Given the description of an element on the screen output the (x, y) to click on. 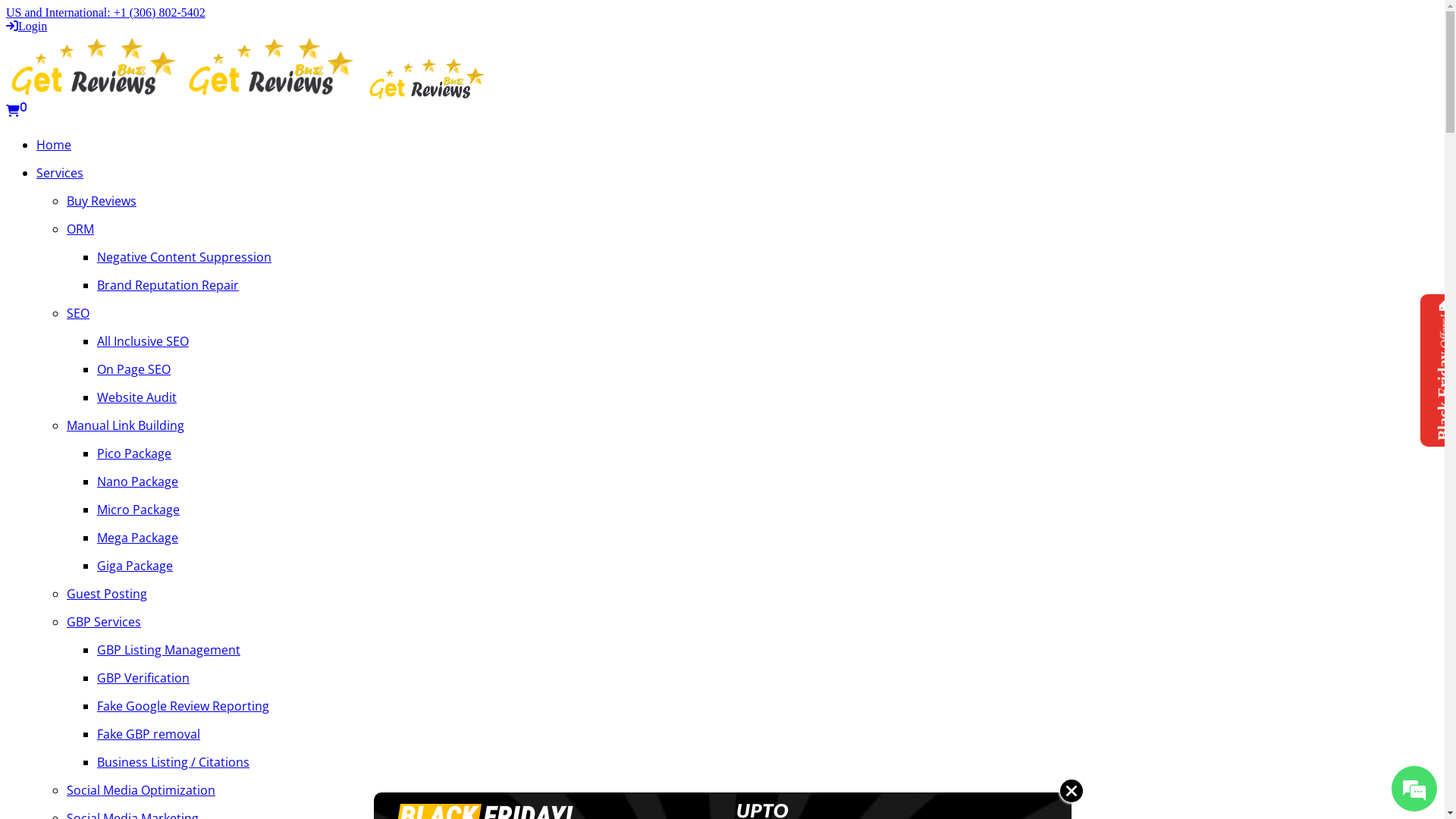
GBP Services Element type: text (752, 621)
Website Audit Element type: text (767, 396)
Social Media Optimization Element type: text (752, 789)
All Inclusive SEO Element type: text (767, 340)
Buy Reviews Element type: text (752, 200)
On Page SEO Element type: text (767, 368)
Fake Google Review Reporting Element type: text (767, 705)
GBP Verification Element type: text (767, 677)
Micro Package Element type: text (767, 509)
Services Element type: text (737, 172)
Mega Package Element type: text (767, 537)
Home Element type: text (737, 144)
Pico Package Element type: text (767, 453)
Fake GBP removal Element type: text (767, 733)
Login Element type: text (26, 25)
Nano Package Element type: text (767, 481)
SEO Element type: text (752, 312)
0 Element type: text (16, 110)
ORM Element type: text (752, 228)
Business Listing / Citations Element type: text (767, 761)
US and International: +1 (306) 802-5402 Element type: text (105, 12)
Negative Content Suppression Element type: text (767, 256)
Giga Package Element type: text (767, 565)
Brand Reputation Repair Element type: text (767, 284)
Manual Link Building Element type: text (752, 425)
Guest Posting Element type: text (752, 593)
GBP Listing Management Element type: text (767, 649)
